Given the description of an element on the screen output the (x, y) to click on. 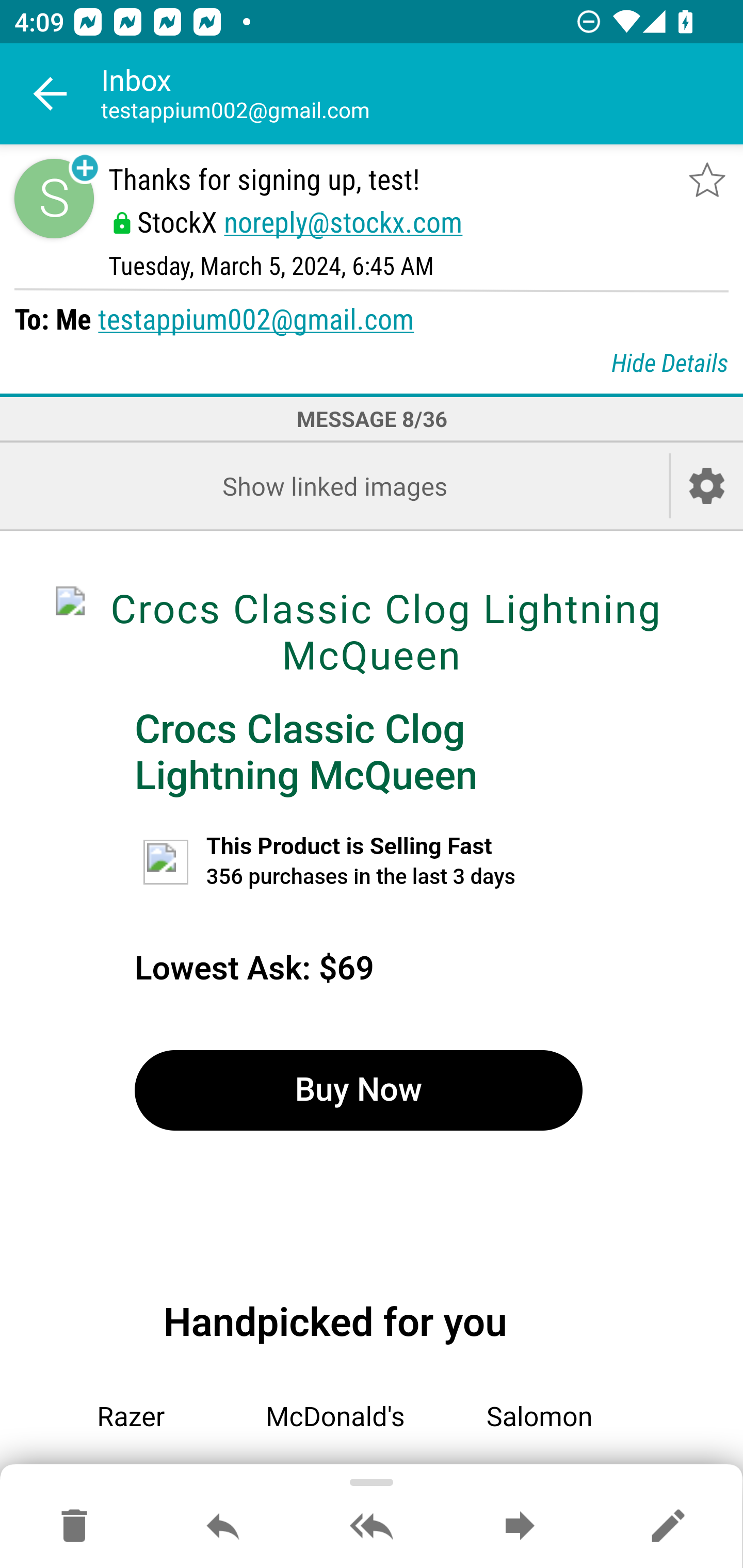
Navigate up (50, 93)
Inbox testappium002@gmail.com (422, 93)
Sender contact button (53, 198)
Show linked images (334, 485)
Account setup (706, 485)
Crocs Classic Clog Lightning McQueen (371, 632)
Crocs Classic Clog Lightning McQueen (305, 752)
Buy Now (357, 1090)
Handpicked for you (334, 1322)
Move to Deleted (74, 1527)
Reply (222, 1527)
Reply all (371, 1527)
Forward (519, 1527)
Reply as new (667, 1527)
